Given the description of an element on the screen output the (x, y) to click on. 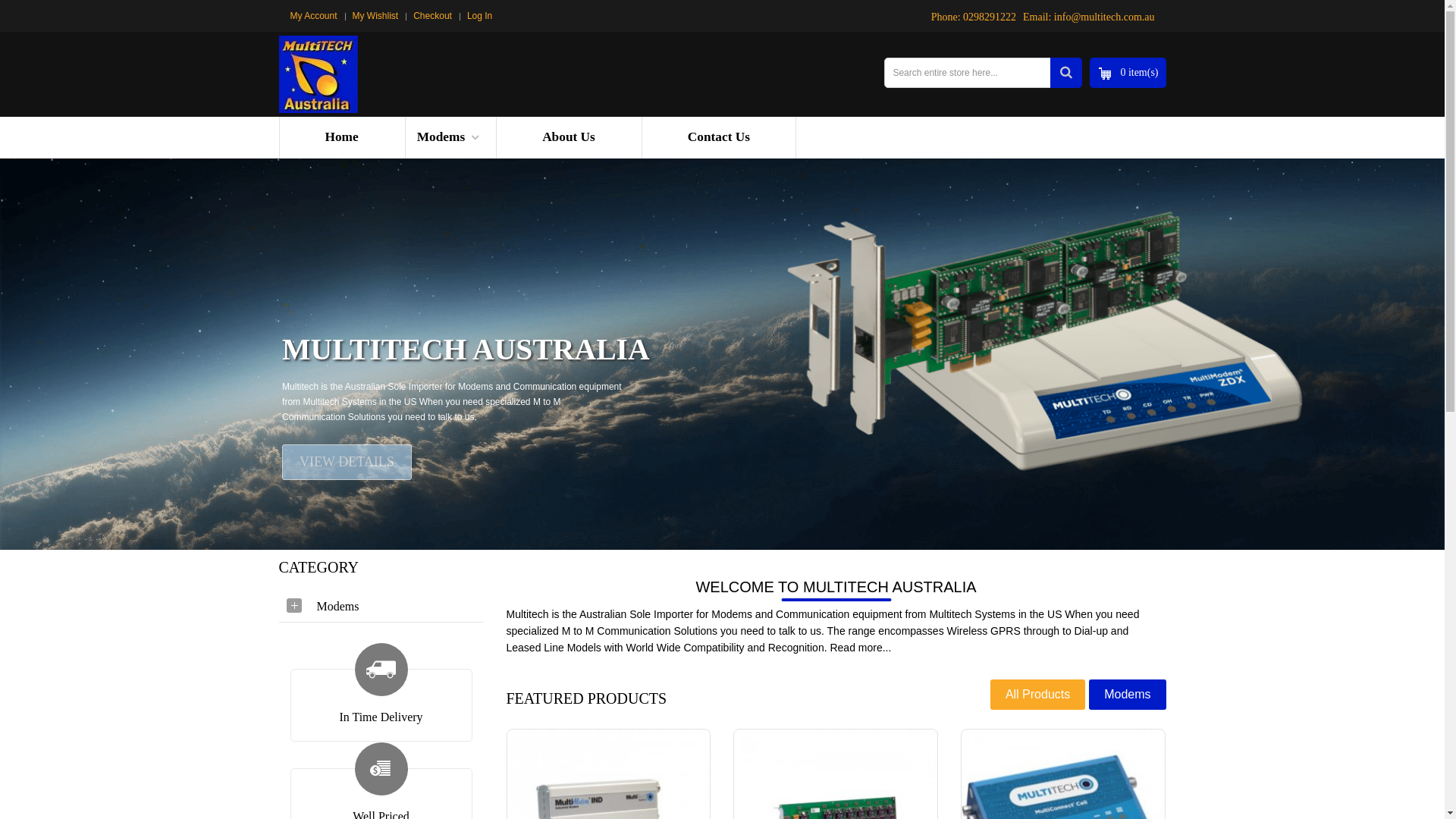
Search Element type: hover (1066, 72)
About Us Element type: text (568, 137)
In Time Delivery Element type: text (380, 720)
Log In Element type: text (475, 15)
Contact Us Element type: text (718, 137)
VIEW DETAILS Element type: text (346, 462)
Modems Element type: text (450, 137)
Modems Element type: text (381, 605)
Checkout Element type: text (432, 15)
Read more... Element type: text (860, 647)
My Account Element type: text (316, 15)
Multitech Element type: hover (318, 73)
Home Element type: text (341, 137)
My Wishlist Element type: text (375, 15)
